Given the description of an element on the screen output the (x, y) to click on. 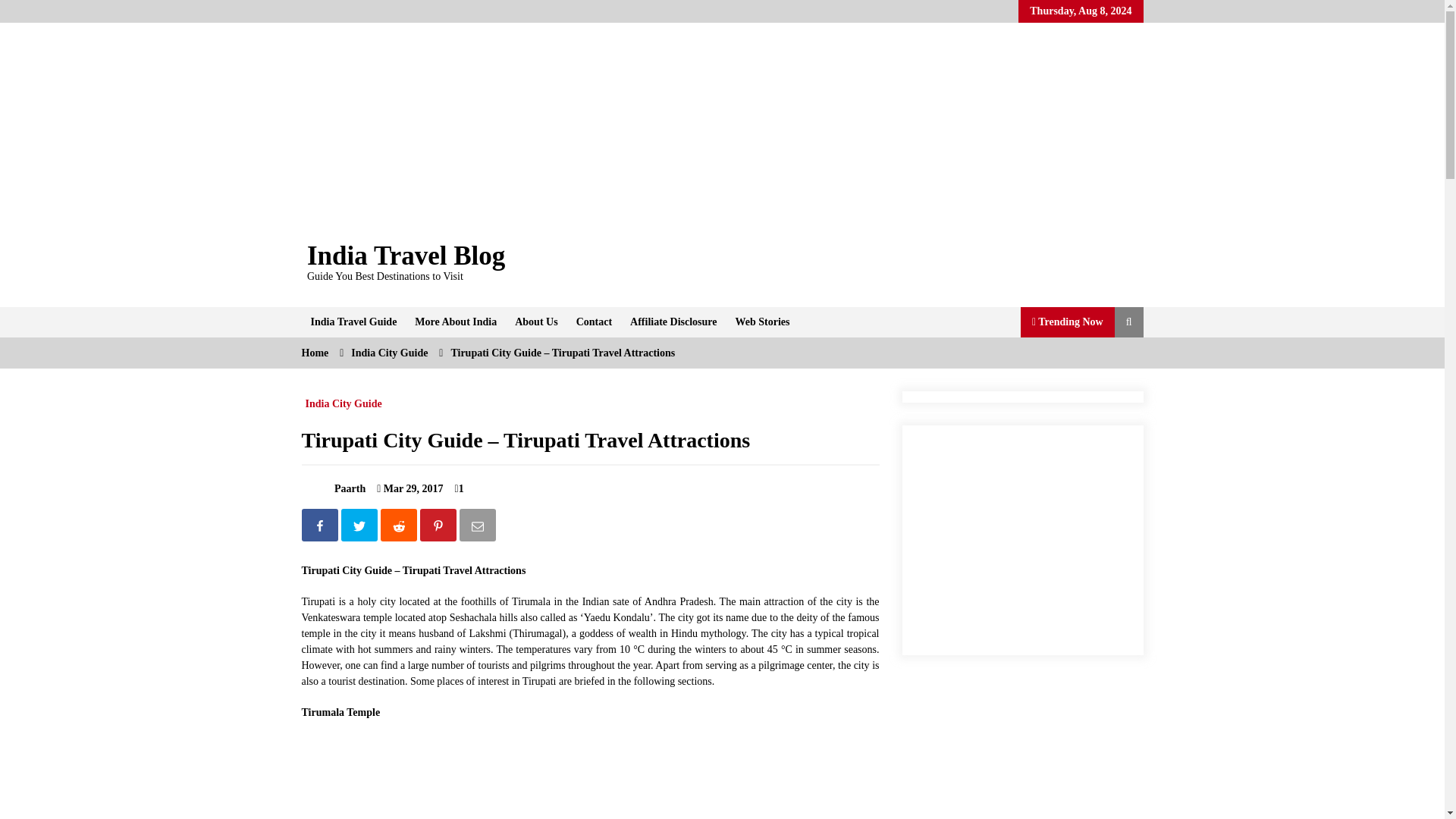
Affiliate Disclosure (673, 322)
Tweet (360, 527)
Web Stories (762, 322)
More About India (455, 322)
Contact (594, 322)
Email (479, 527)
Pin (440, 527)
India Travel Blog (406, 255)
India Travel Guide (353, 322)
About Us (535, 322)
Tirumala Temple (357, 777)
Share on Reddit (400, 527)
More (455, 322)
Share on Facebook (320, 527)
